Given the description of an element on the screen output the (x, y) to click on. 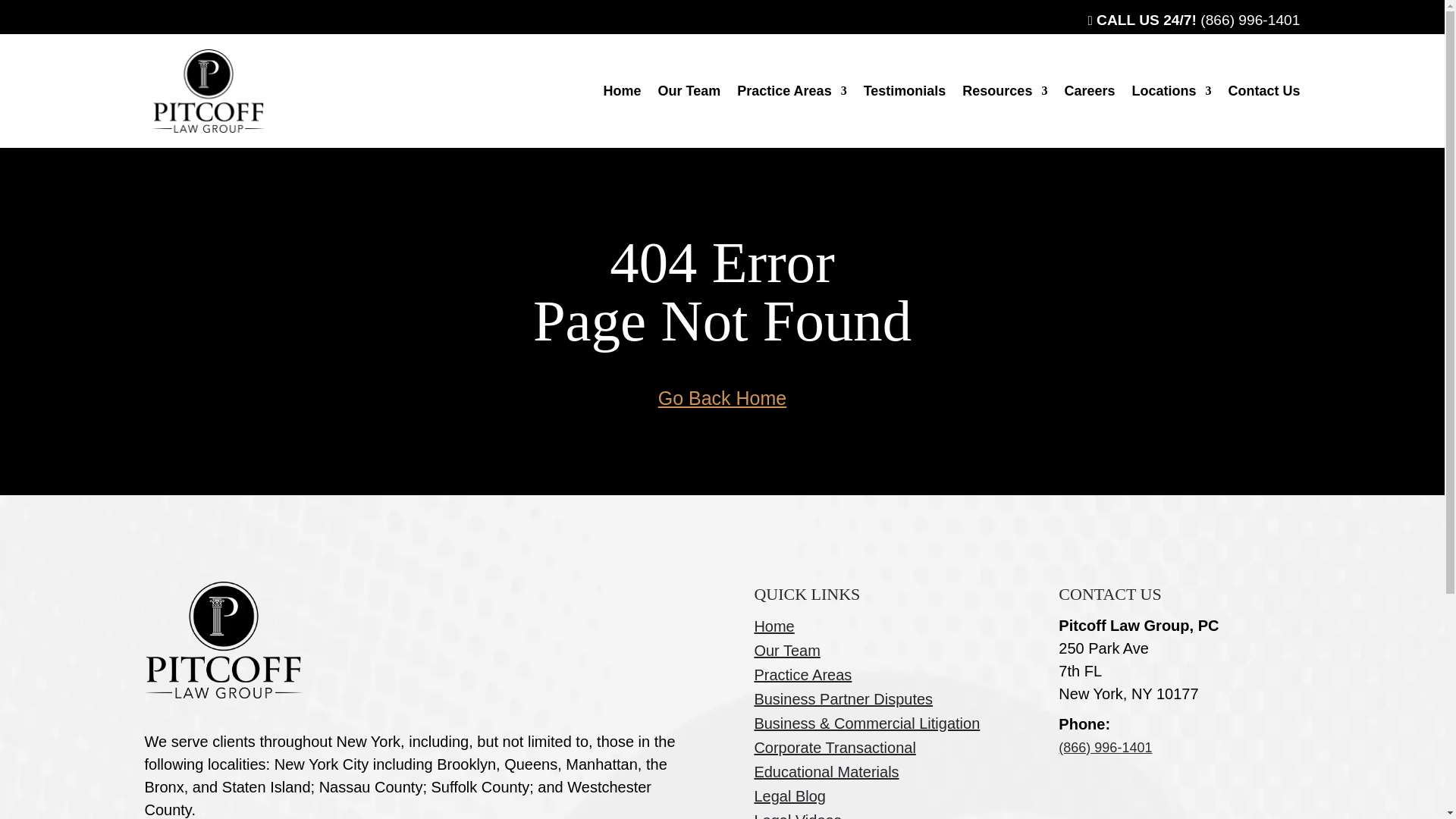
Practice Areas (790, 90)
